Given the description of an element on the screen output the (x, y) to click on. 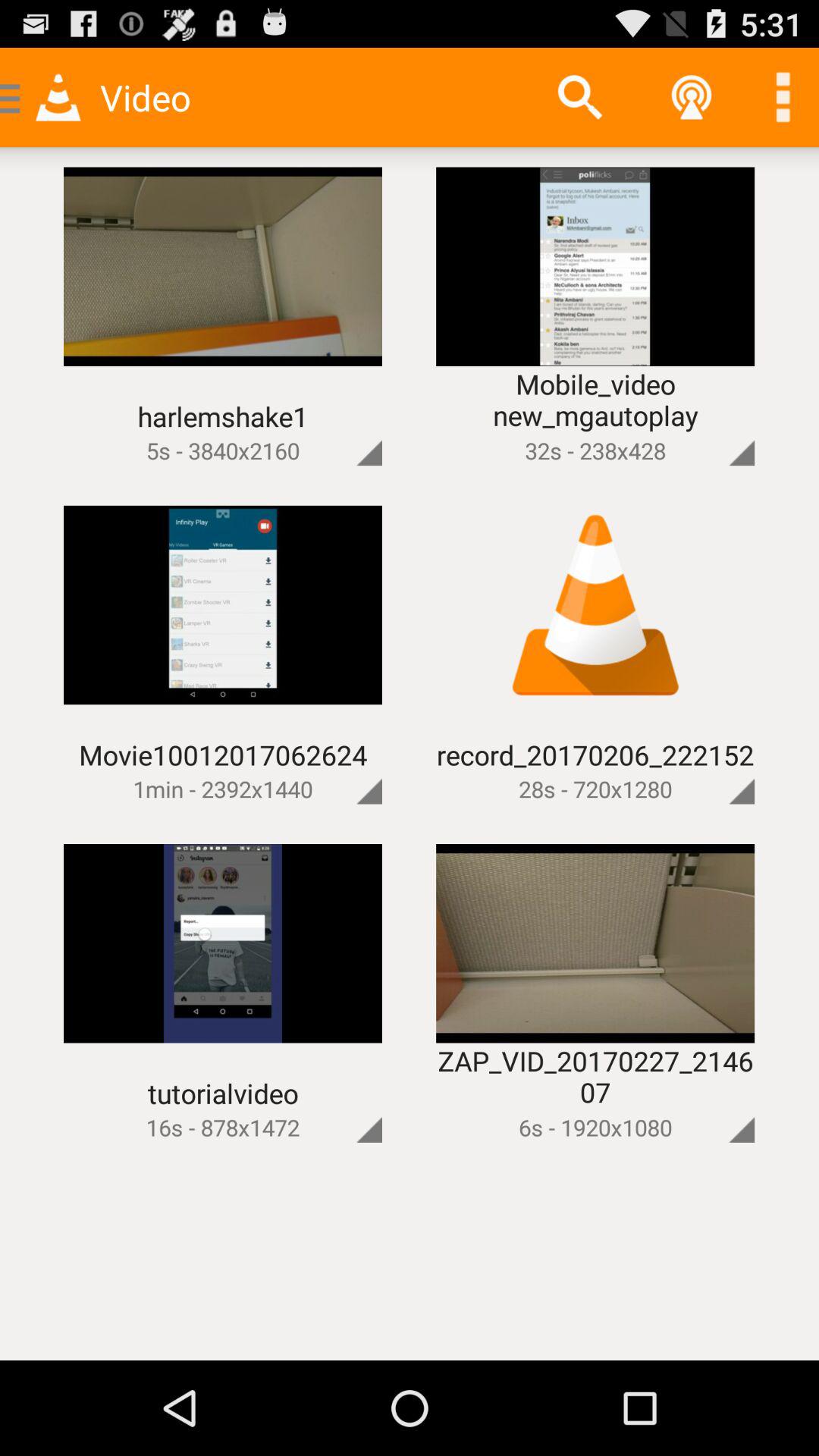
open the item next to the video app (579, 97)
